Given the description of an element on the screen output the (x, y) to click on. 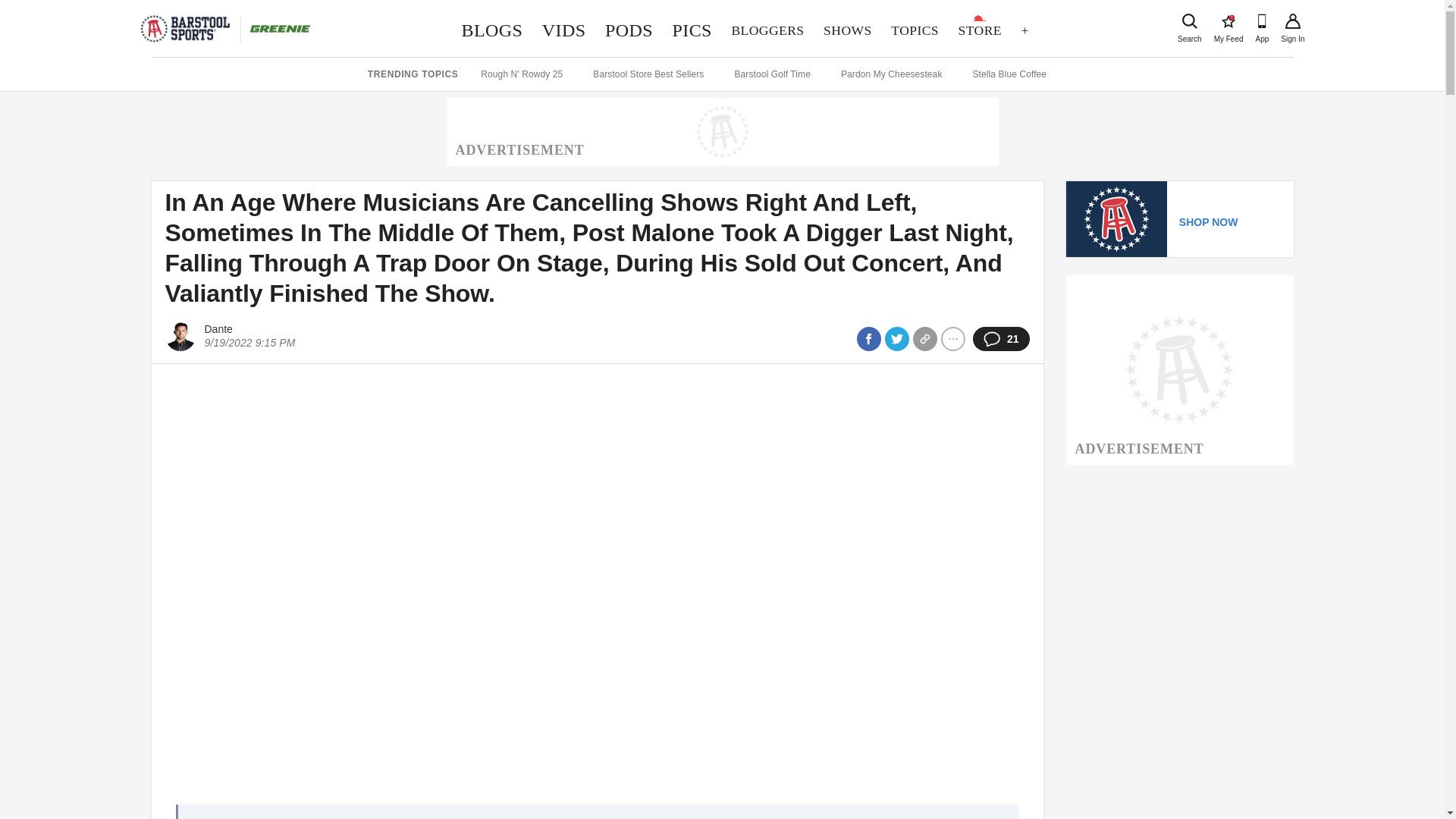
STORE (980, 30)
TOPICS (913, 30)
VIDS (1228, 20)
PODS (563, 30)
Search (628, 30)
Sign Up (1189, 20)
SHOWS (1292, 20)
BLOGS (846, 30)
BLOGGERS (491, 30)
PICS (767, 30)
